Given the description of an element on the screen output the (x, y) to click on. 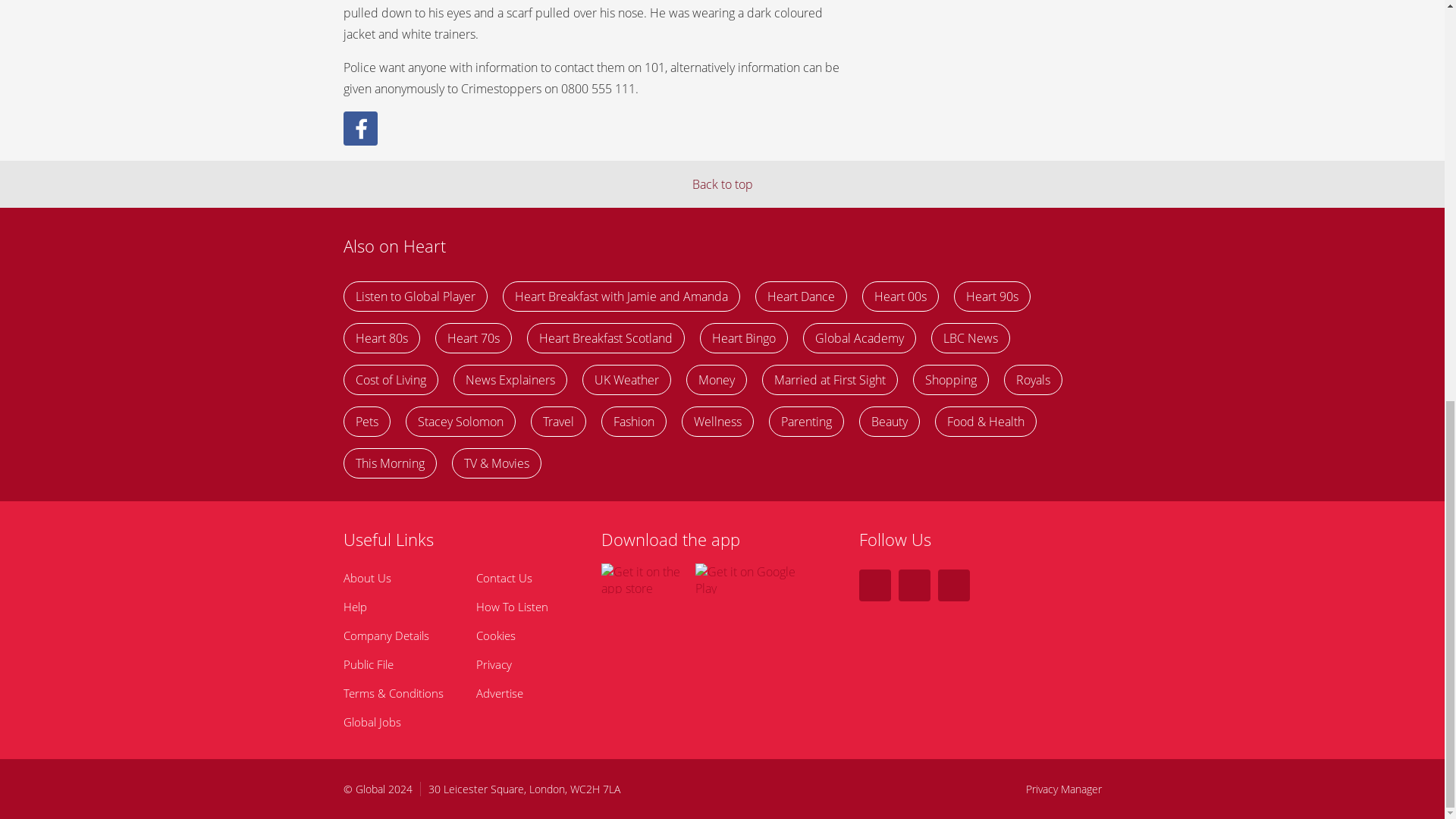
Follow Heart on Facebook (874, 585)
Follow Heart on Youtube (953, 585)
Back to top (721, 184)
Follow Heart on Instagram (914, 585)
